Given the description of an element on the screen output the (x, y) to click on. 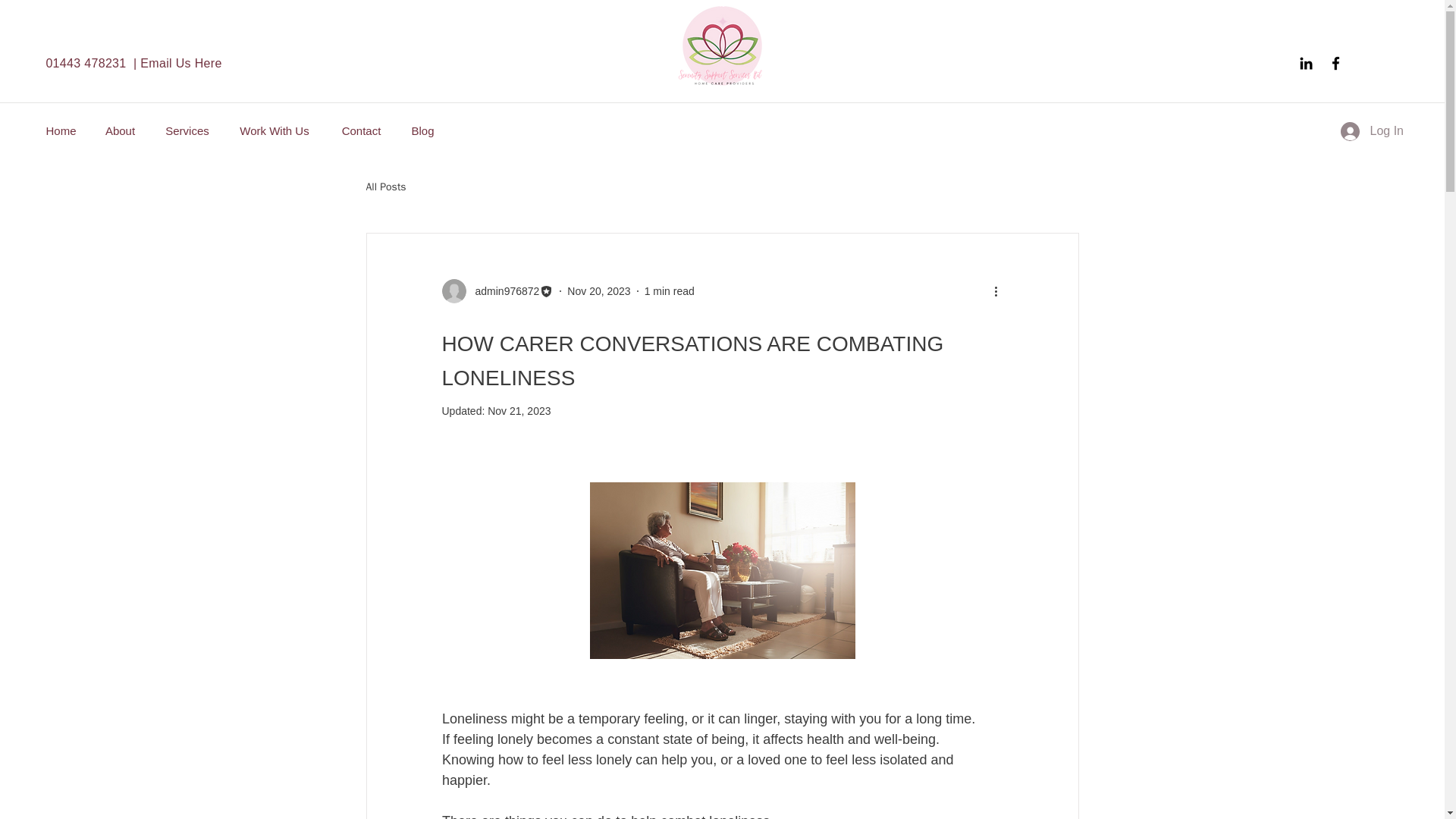
admin976872 (497, 291)
Log In (1371, 130)
About (119, 130)
Nov 21, 2023 (518, 410)
1 min read (669, 291)
admin976872 (501, 291)
Work With Us (274, 130)
Email Us Here (180, 62)
01443 478231 (85, 62)
Home (61, 130)
